Given the description of an element on the screen output the (x, y) to click on. 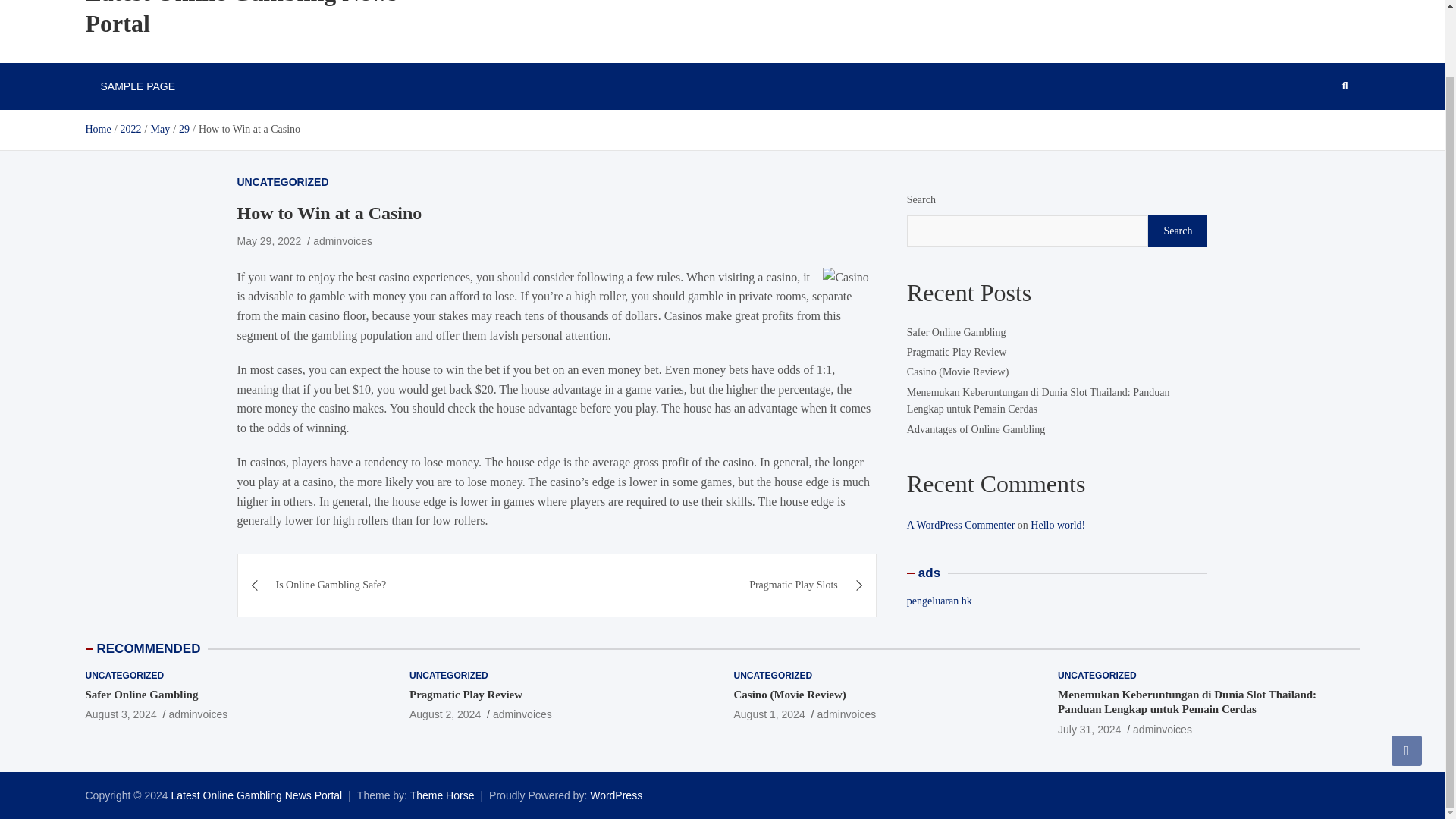
2022 (130, 129)
WordPress (615, 795)
Go to Top (1406, 676)
August 2, 2024 (444, 714)
adminvoices (342, 241)
adminvoices (846, 714)
Search (1177, 231)
May (159, 129)
adminvoices (197, 714)
How to Win at a Casino (268, 241)
Home (97, 129)
adminvoices (522, 714)
Safer Online Gambling (141, 694)
Latest Online Gambling News Portal (256, 795)
